Given the description of an element on the screen output the (x, y) to click on. 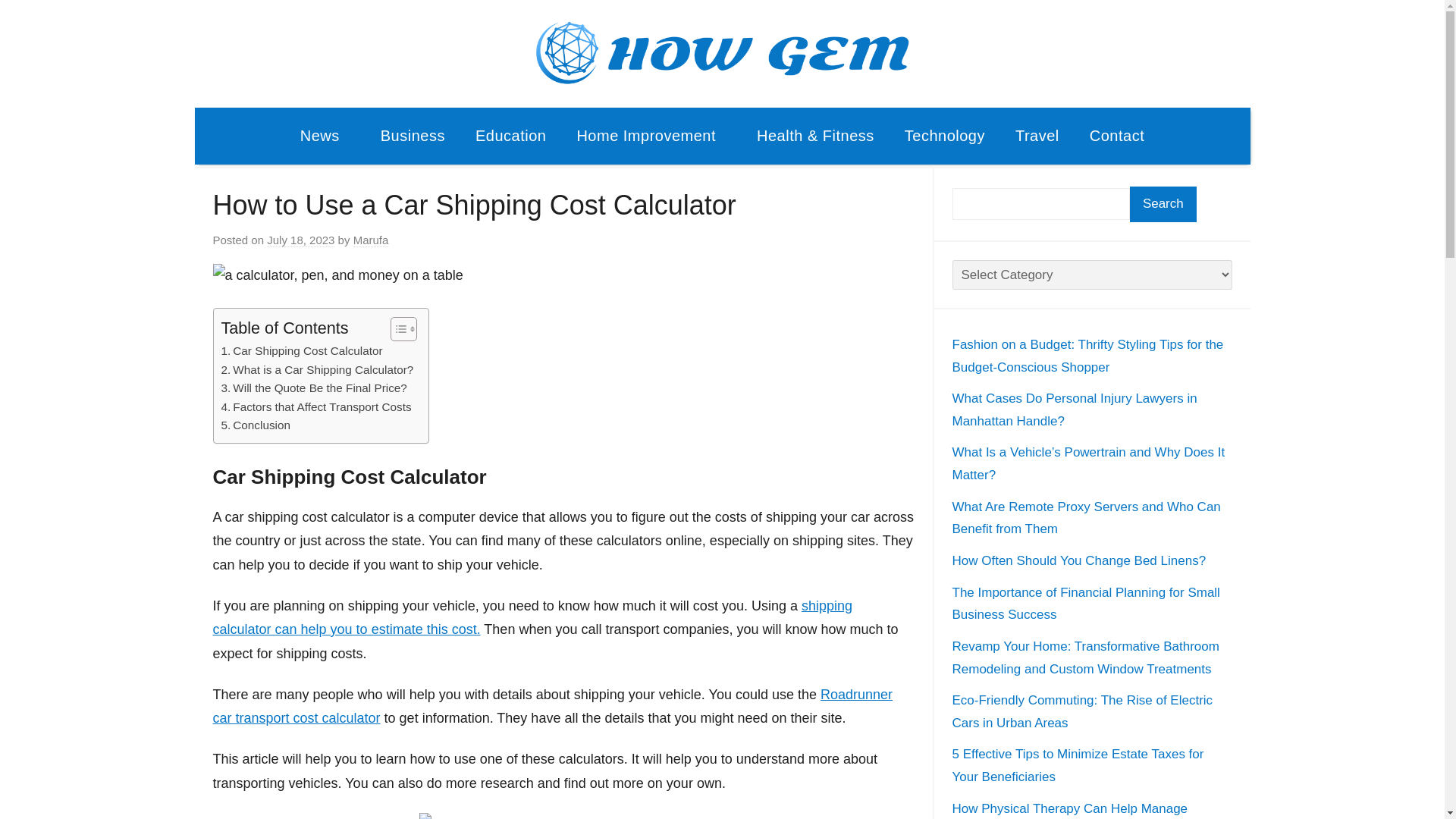
Roadrunner car transport cost calculator (552, 706)
July 18, 2023 (300, 240)
Travel (1037, 136)
Technology (944, 136)
Conclusion (256, 425)
shipping calculator can help you to estimate this cost. (531, 618)
Factors that Affect Transport Costs (316, 407)
Home Improvement (650, 136)
Car Shipping Cost Calculator (301, 351)
Car Shipping Cost Calculator (301, 351)
Conclusion (256, 425)
Factors that Affect Transport Costs (316, 407)
What is a Car Shipping Calculator? (317, 370)
Education (510, 136)
Will the Quote Be the Final Price? (314, 388)
